Given the description of an element on the screen output the (x, y) to click on. 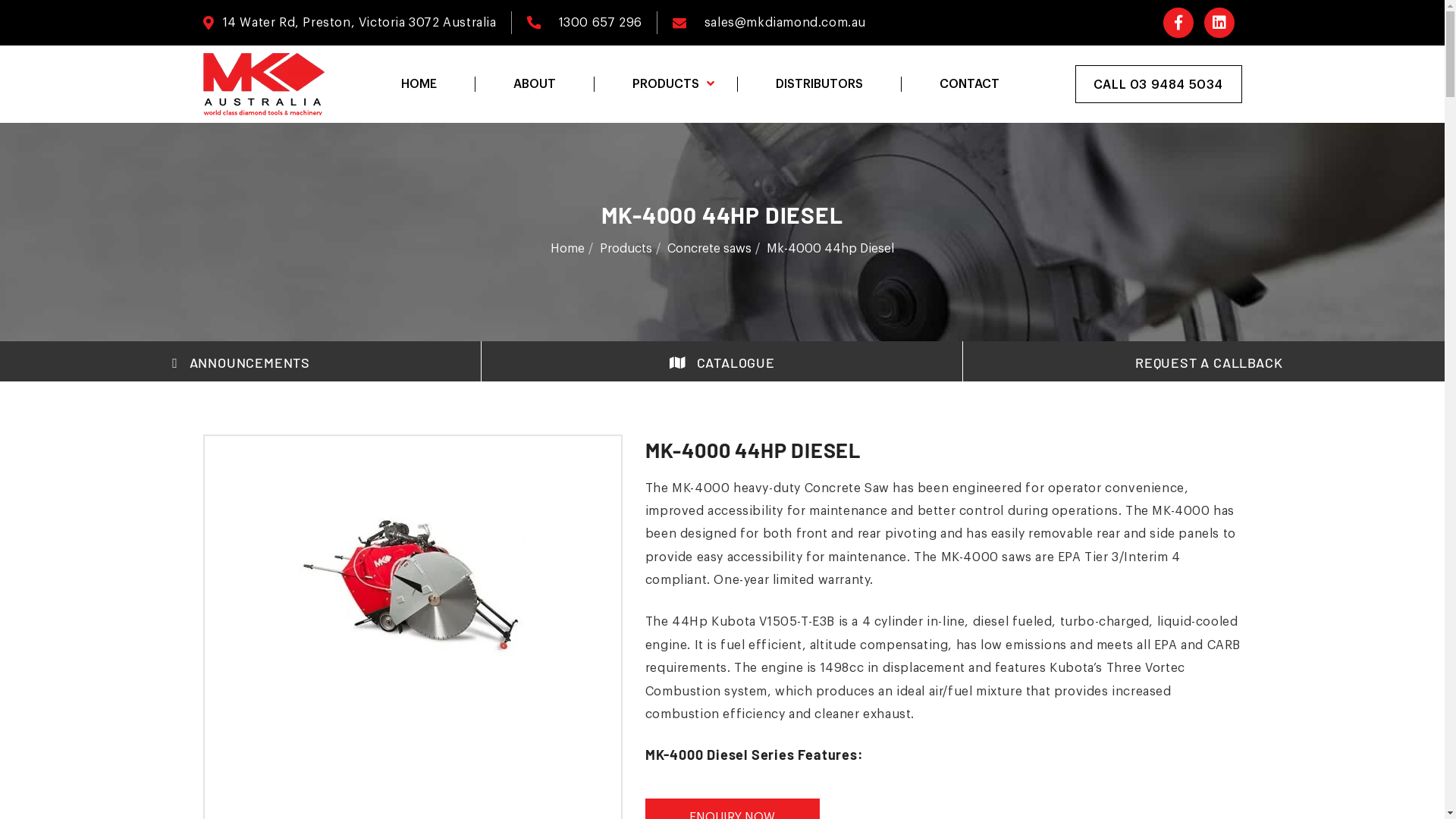
ANNOUNCEMENTS Element type: text (241, 362)
Home Element type: text (567, 248)
ABOUT Element type: text (533, 83)
Facebook Element type: hover (1178, 22)
REQUEST A CALLBACK Element type: text (1202, 362)
4000-1 Element type: hover (412, 581)
CALL 03 9484 5034 Element type: text (1158, 84)
sales@mkdiamond.com.au Element type: text (785, 22)
1300 657 296 Element type: text (599, 22)
LinkedIn Element type: hover (1219, 22)
Products Element type: text (625, 248)
HOME Element type: text (417, 83)
PRODUCTS Element type: text (664, 83)
CONTACT Element type: text (968, 83)
Concrete saws Element type: text (709, 248)
CATALOGUE Element type: text (722, 362)
MK Diamond Australia Element type: hover (264, 84)
DISTRIBUTORS Element type: text (818, 83)
